Given the description of an element on the screen output the (x, y) to click on. 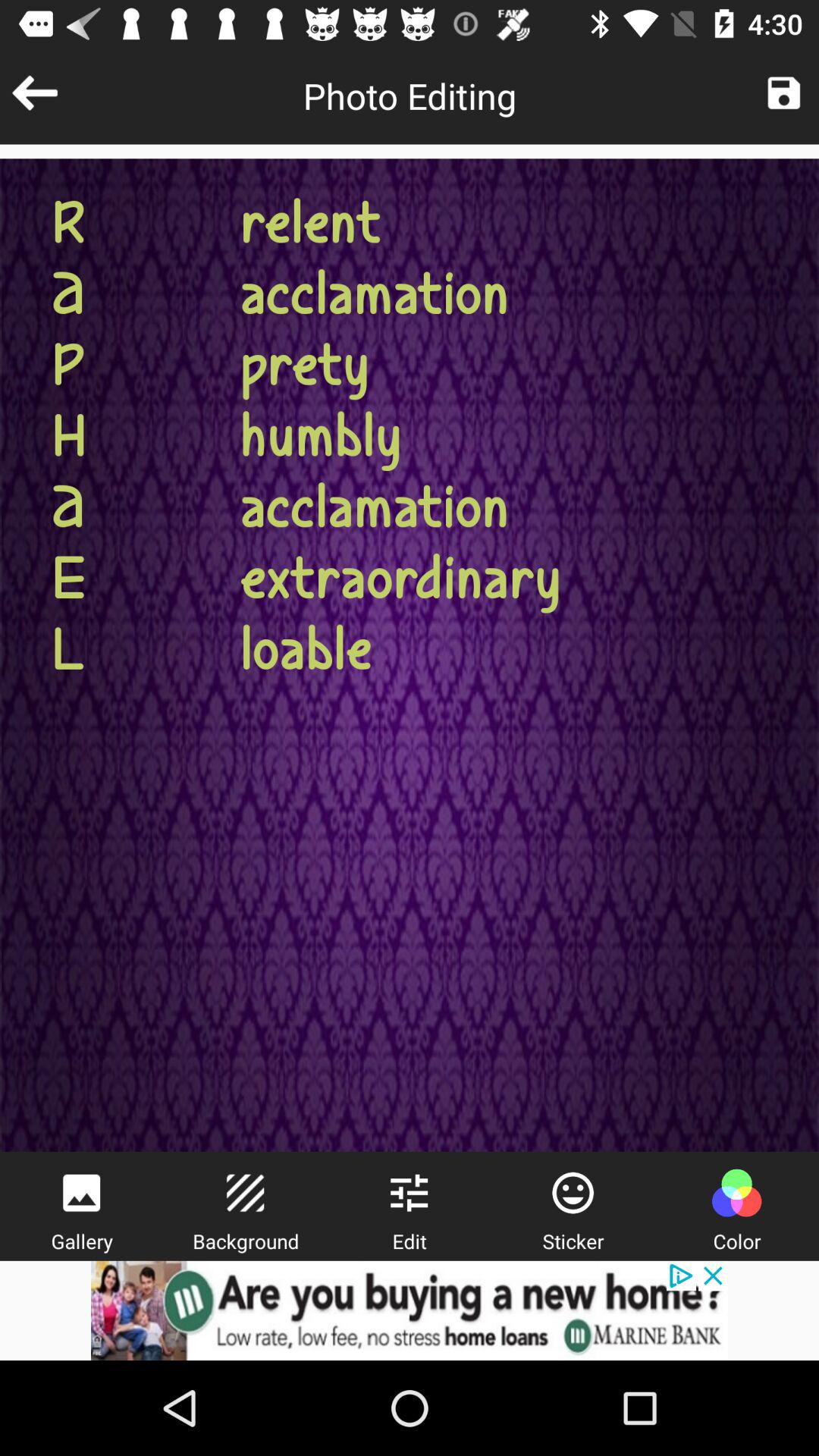
save the photo (784, 92)
